Given the description of an element on the screen output the (x, y) to click on. 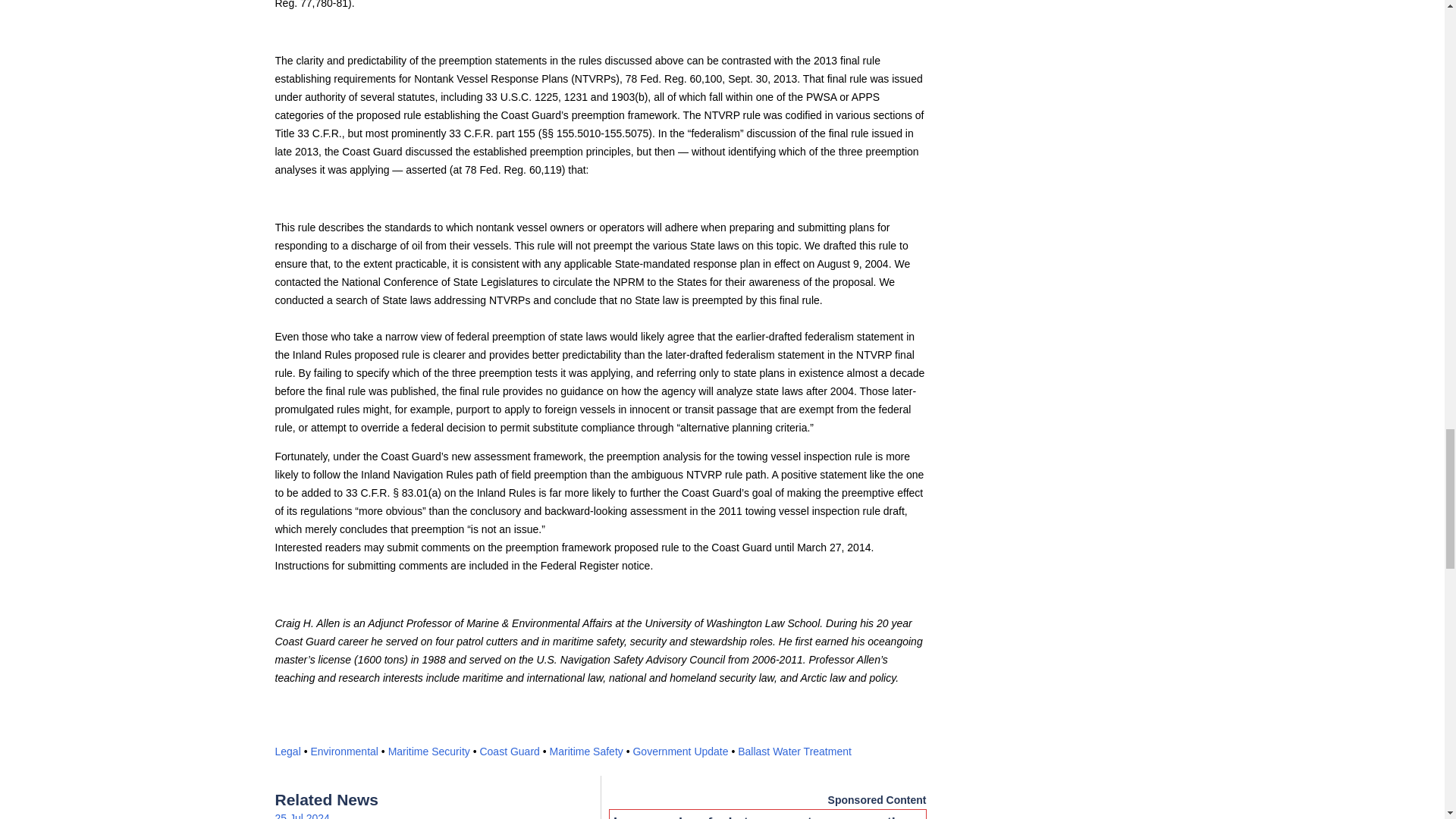
Environmental (344, 751)
Maritime Safety (586, 751)
Government Update (679, 751)
Maritime Security (429, 751)
Coast Guard (508, 751)
Legal (287, 751)
Ballast Water Treatment (794, 751)
